Given the description of an element on the screen output the (x, y) to click on. 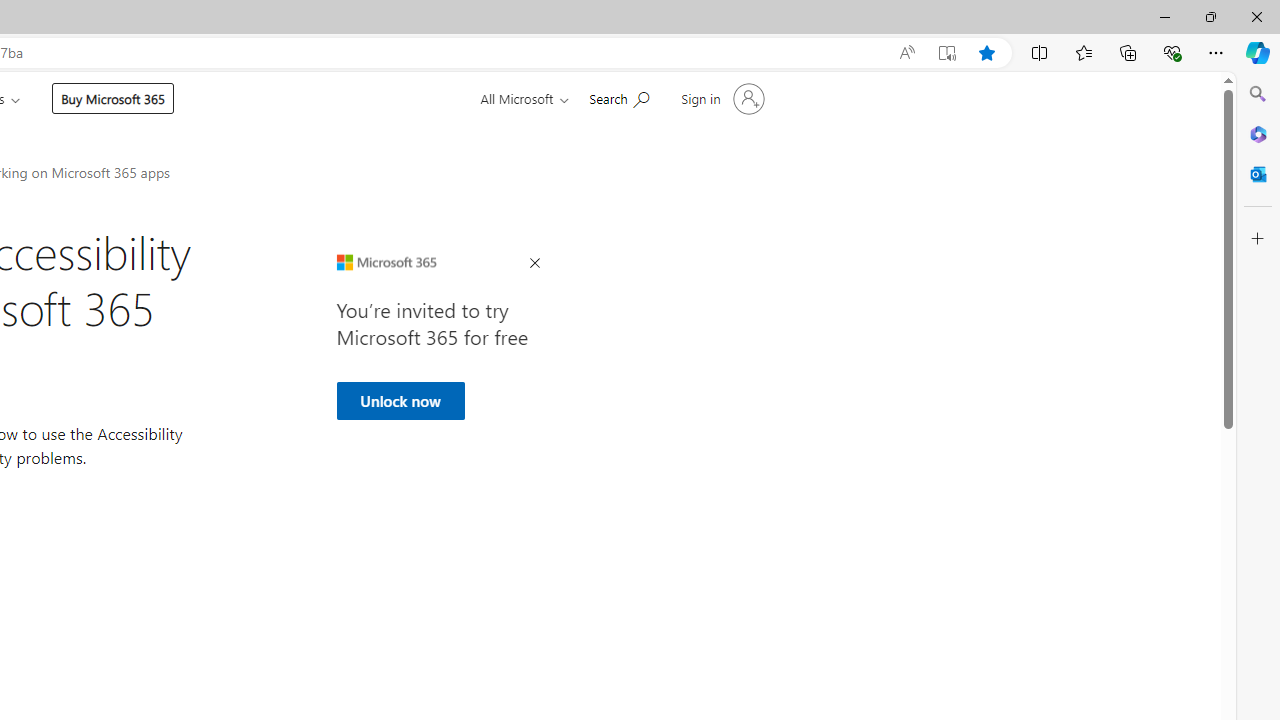
Enter Immersive Reader (F9) (946, 53)
Search for help (619, 97)
Copilot (Ctrl+Shift+.) (1258, 52)
Sign in to your account (721, 98)
Close Ad (534, 264)
Microsoft 365 (1258, 133)
Outlook (1258, 174)
Restore (1210, 16)
Collections (1128, 52)
Browser essentials (1171, 52)
Customize (1258, 239)
Settings and more (Alt+F) (1215, 52)
